Given the description of an element on the screen output the (x, y) to click on. 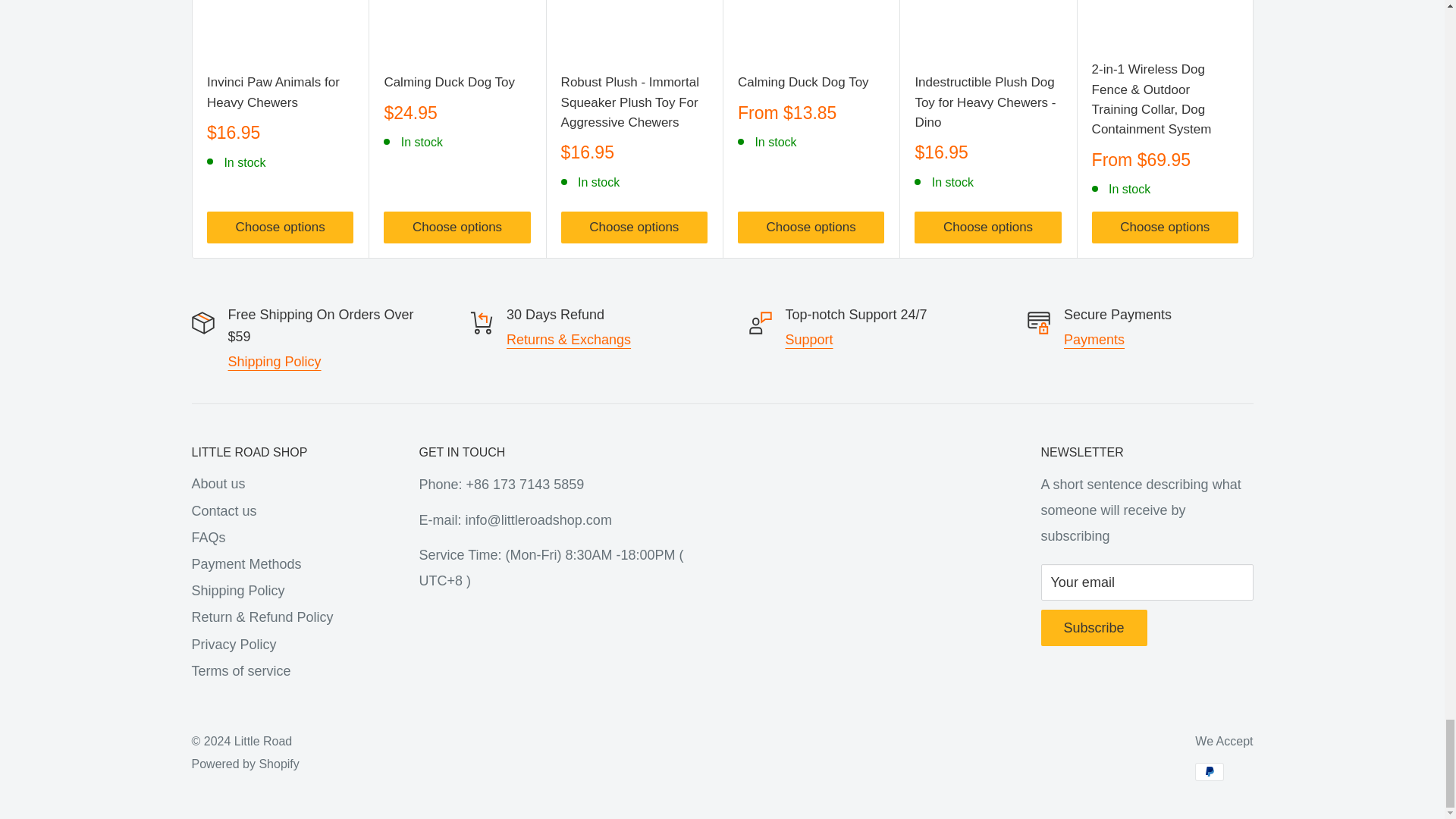
Payment Methods (1094, 339)
Contact us (809, 339)
